Given the description of an element on the screen output the (x, y) to click on. 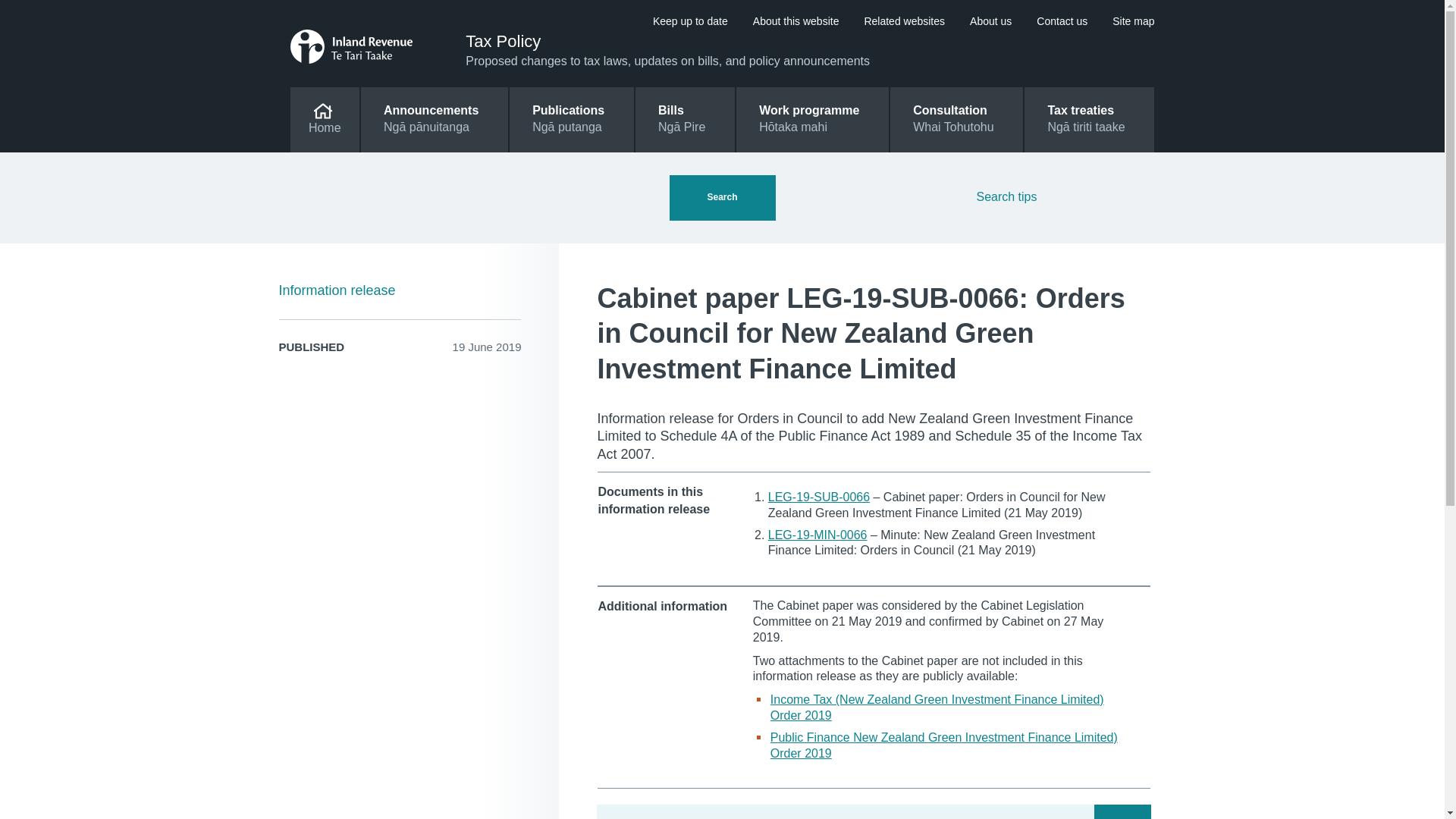
Home (323, 119)
About us (990, 21)
About this website (796, 21)
About this website (956, 119)
Information release (796, 21)
Keep up to date (400, 291)
Contact us (690, 21)
Site map (1061, 21)
Keep up to date (1133, 21)
Tax Policy (690, 21)
Contact us (502, 40)
LEG-19-SUB-0066 (1061, 21)
Related websites (818, 496)
Related websites (903, 21)
